Given the description of an element on the screen output the (x, y) to click on. 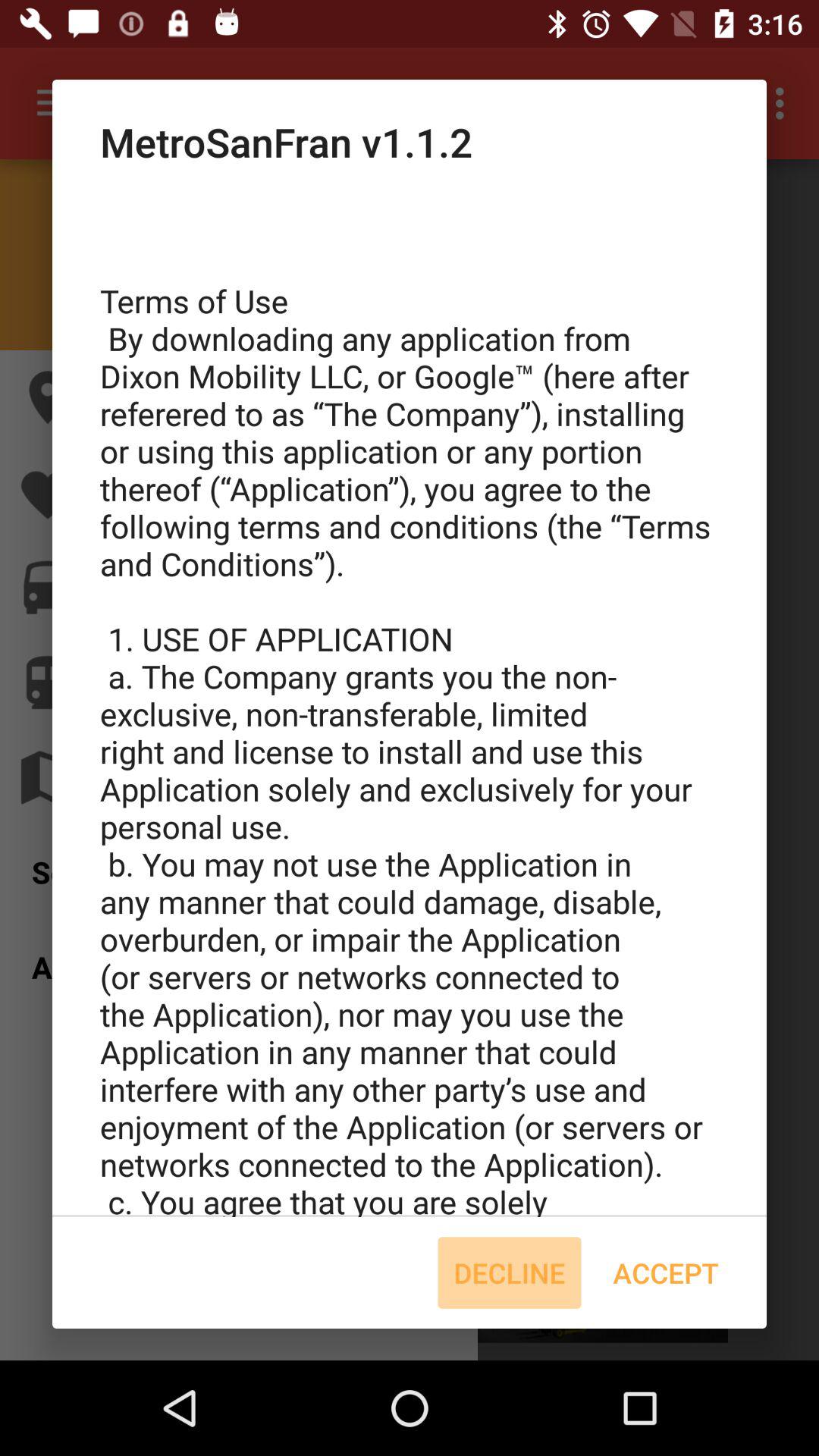
launch icon below the terms of use item (665, 1272)
